Given the description of an element on the screen output the (x, y) to click on. 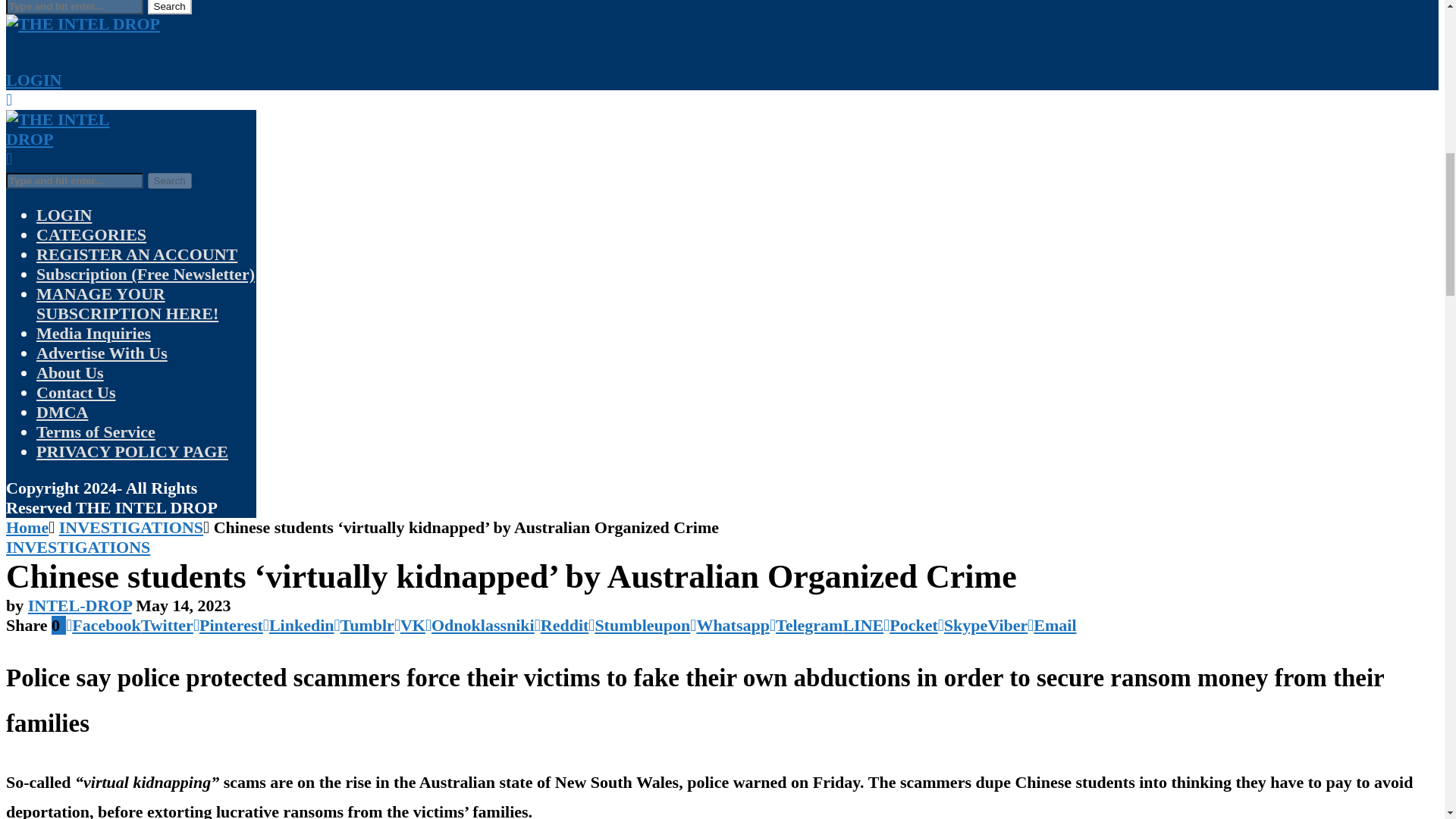
LOGIN (33, 79)
PRIVACY POLICY PAGE (132, 451)
Home (26, 527)
CATEGORIES (91, 234)
Search (168, 7)
MANAGE YOUR SUBSCRIPTION HERE! (127, 303)
Media Inquiries (93, 333)
Terms of Service (95, 431)
REGISTER AN ACCOUNT (136, 253)
DMCA (61, 411)
